Given the description of an element on the screen output the (x, y) to click on. 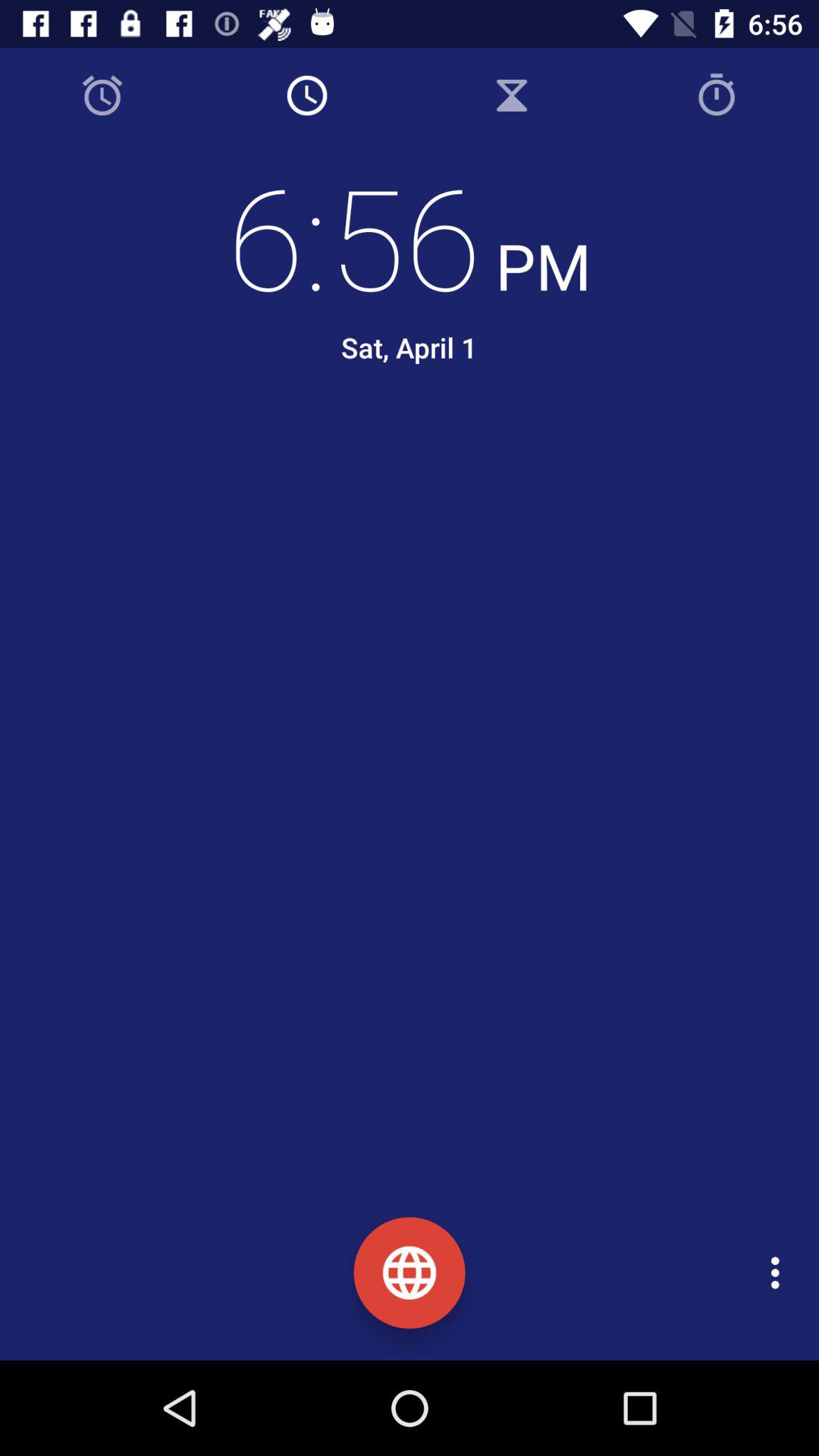
turn off the icon at the bottom right corner (779, 1272)
